Given the description of an element on the screen output the (x, y) to click on. 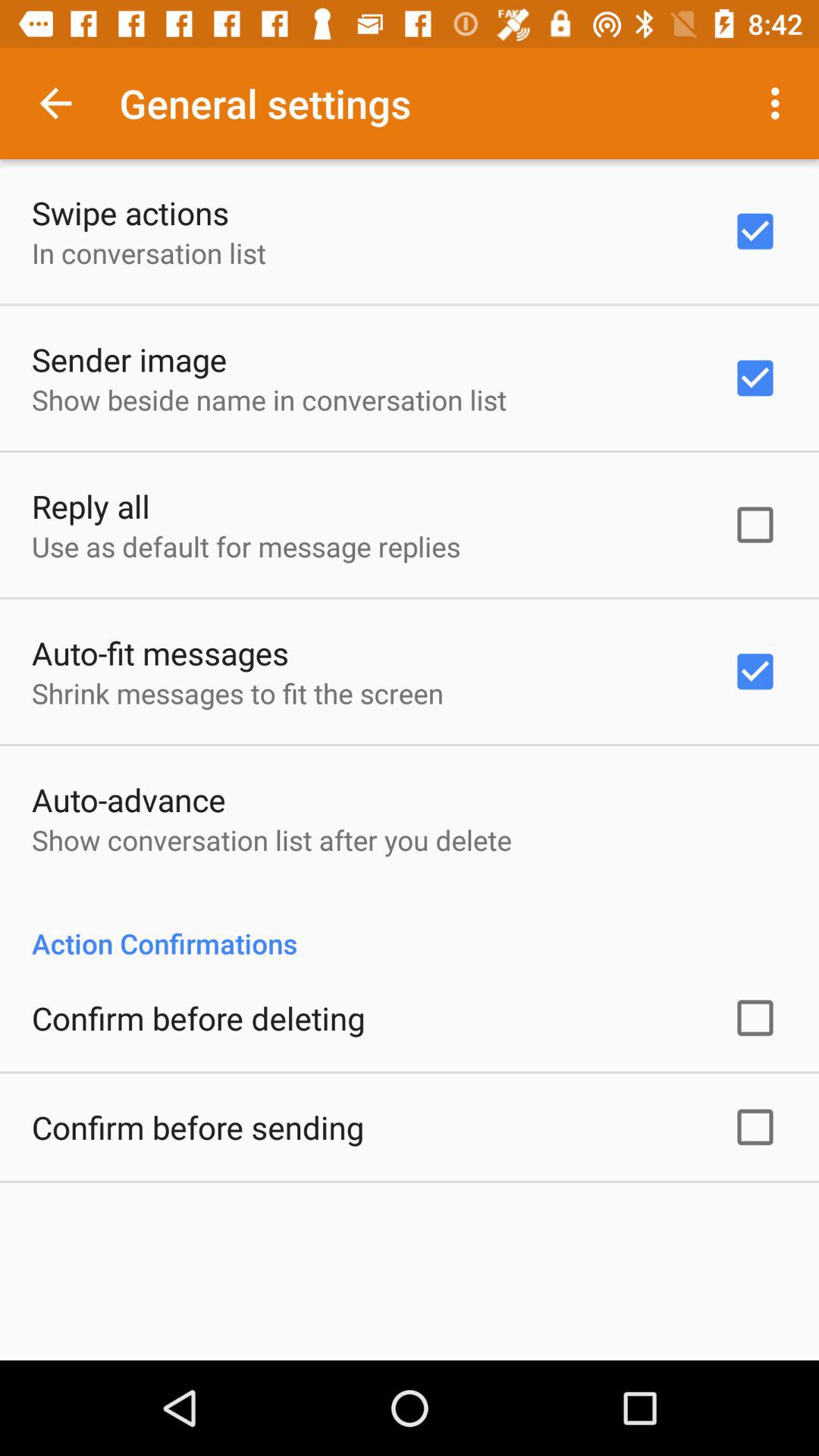
launch icon below sender image item (268, 399)
